Given the description of an element on the screen output the (x, y) to click on. 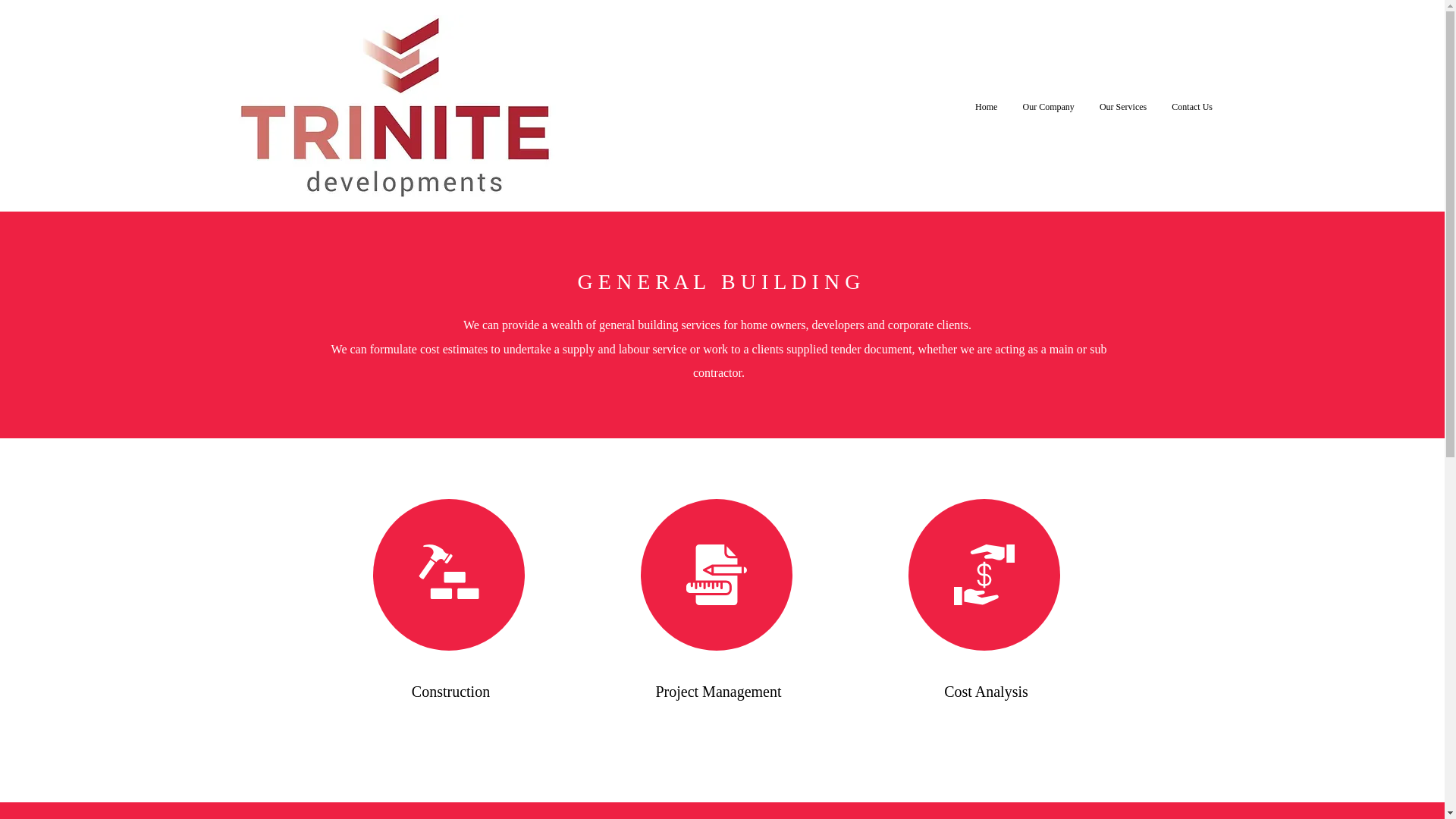
Our Company (1048, 106)
Home (986, 106)
Contact Us (1191, 106)
Our Services (1122, 106)
